Given the description of an element on the screen output the (x, y) to click on. 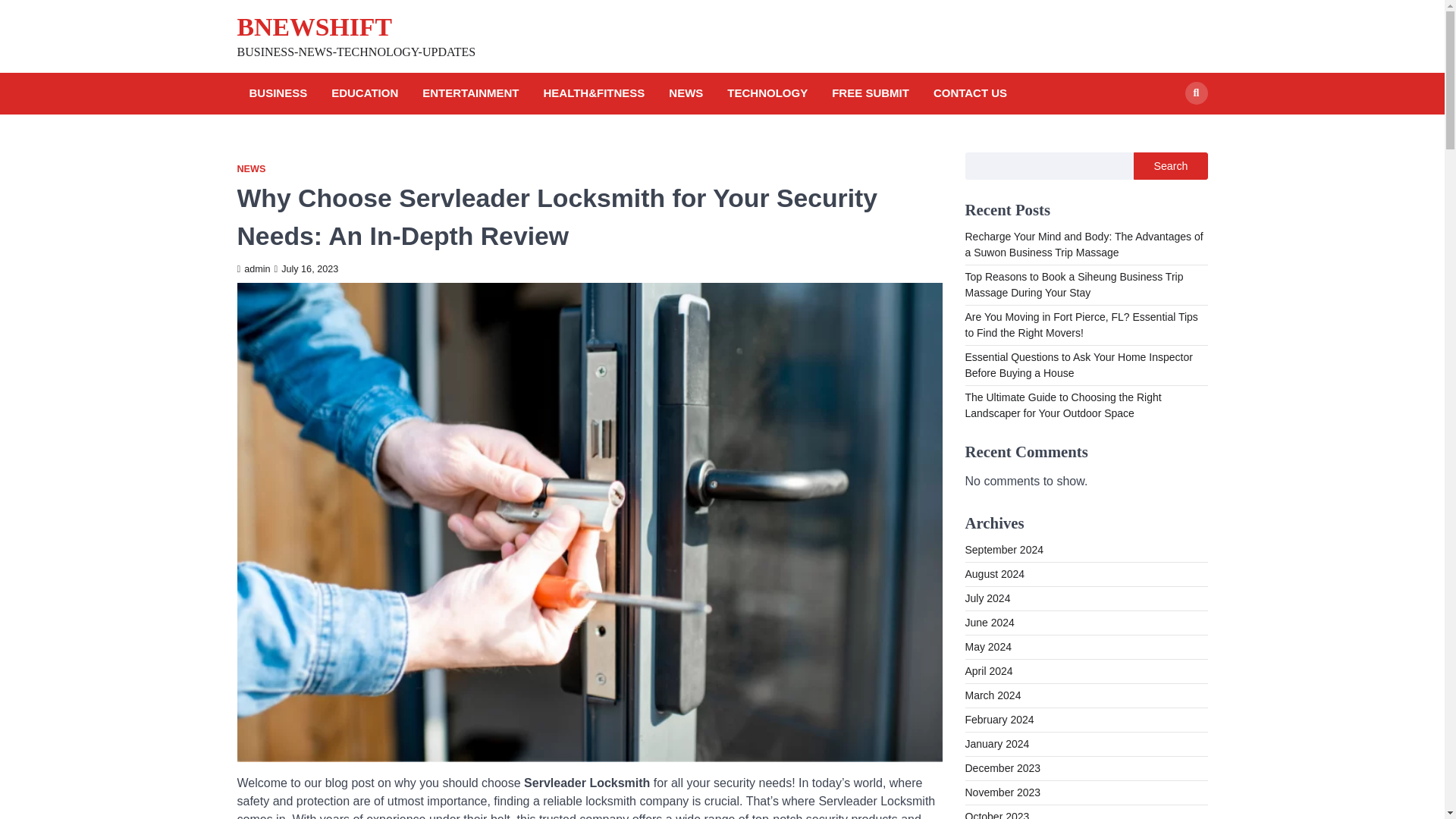
ENTERTAINMENT (470, 93)
TECHNOLOGY (766, 93)
June 2024 (988, 622)
July 16, 2023 (307, 268)
February 2024 (998, 719)
admin (252, 268)
January 2024 (996, 743)
March 2024 (991, 695)
